Given the description of an element on the screen output the (x, y) to click on. 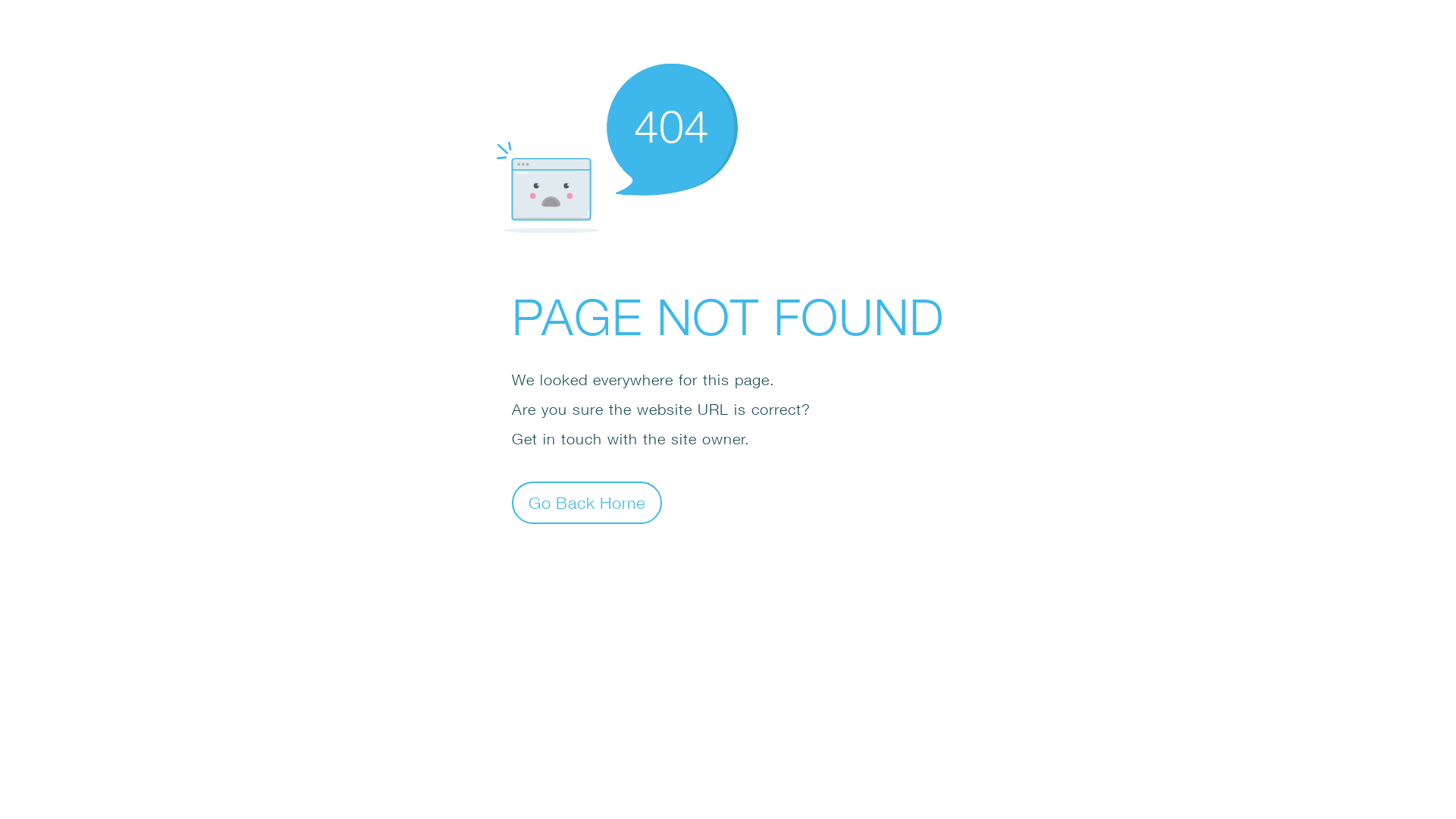
Go Back Home Element type: text (586, 502)
